Given the description of an element on the screen output the (x, y) to click on. 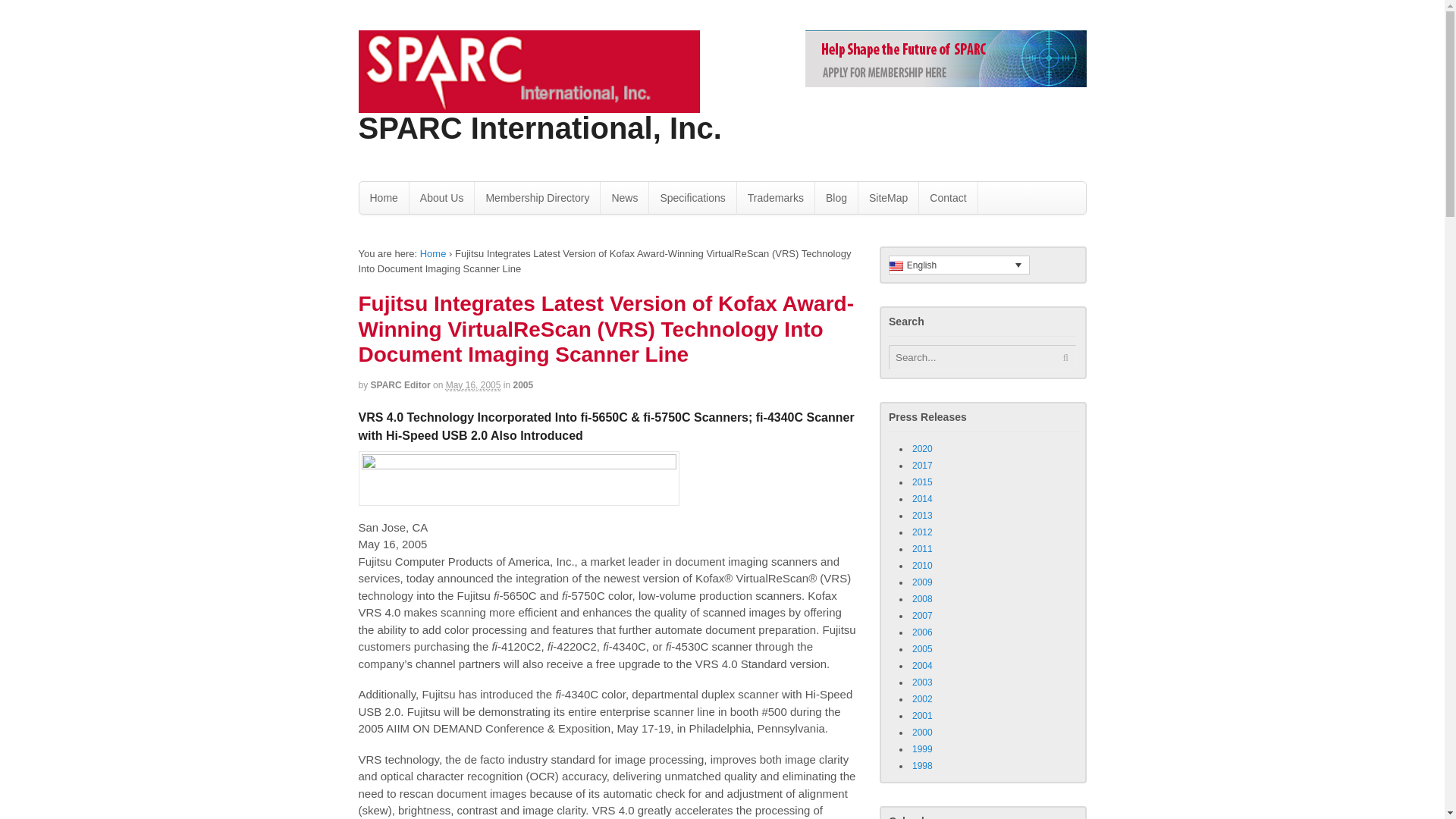
Home (433, 253)
SPARC International, Inc. (539, 127)
SiteMap (888, 197)
Blog (836, 197)
2005-05-16T00:00:00-0700 (472, 385)
Specifications (692, 197)
Search... (974, 357)
SPARC International, Inc. (433, 253)
Home (384, 197)
Posts by SPARC Editor (400, 385)
